Given the description of an element on the screen output the (x, y) to click on. 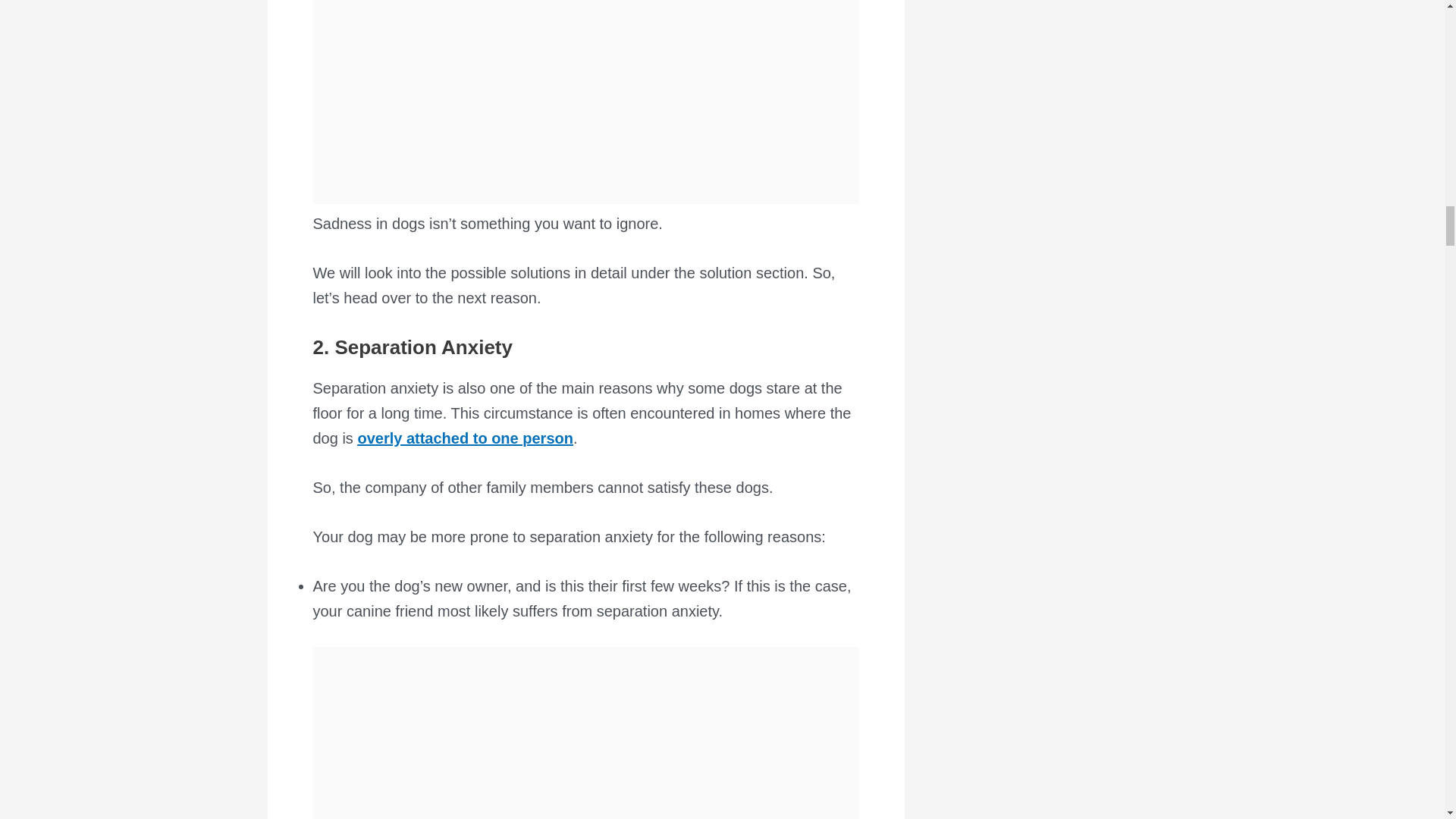
overly attached to one person (464, 437)
